Given the description of an element on the screen output the (x, y) to click on. 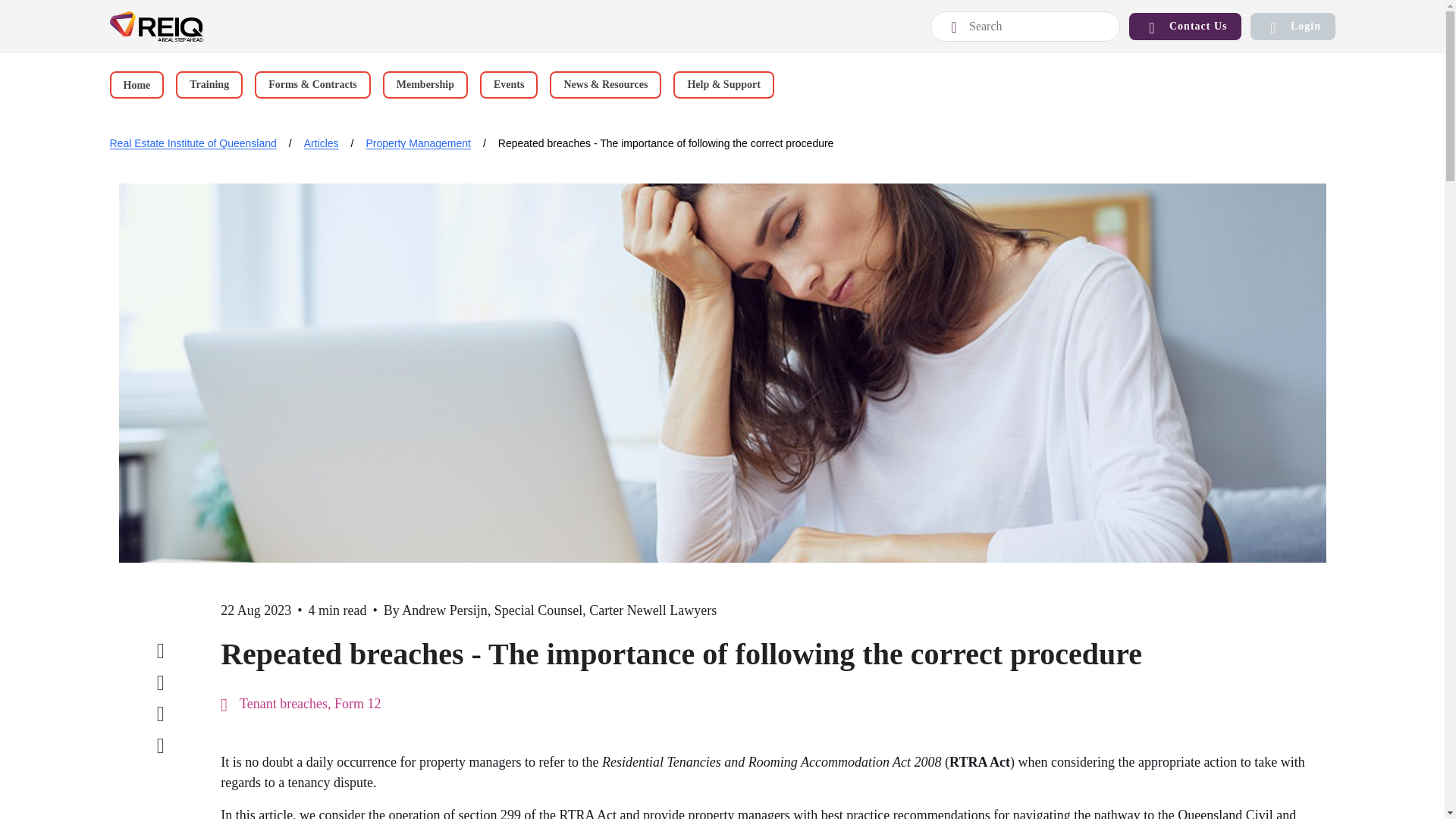
Property Management (417, 143)
Home (136, 84)
Login (1292, 26)
Home (192, 143)
LinkedIn (160, 711)
Training (209, 84)
Email (160, 742)
Articles (321, 143)
Facebook (160, 648)
Contact Us (1185, 26)
Twitter (160, 679)
